Given the description of an element on the screen output the (x, y) to click on. 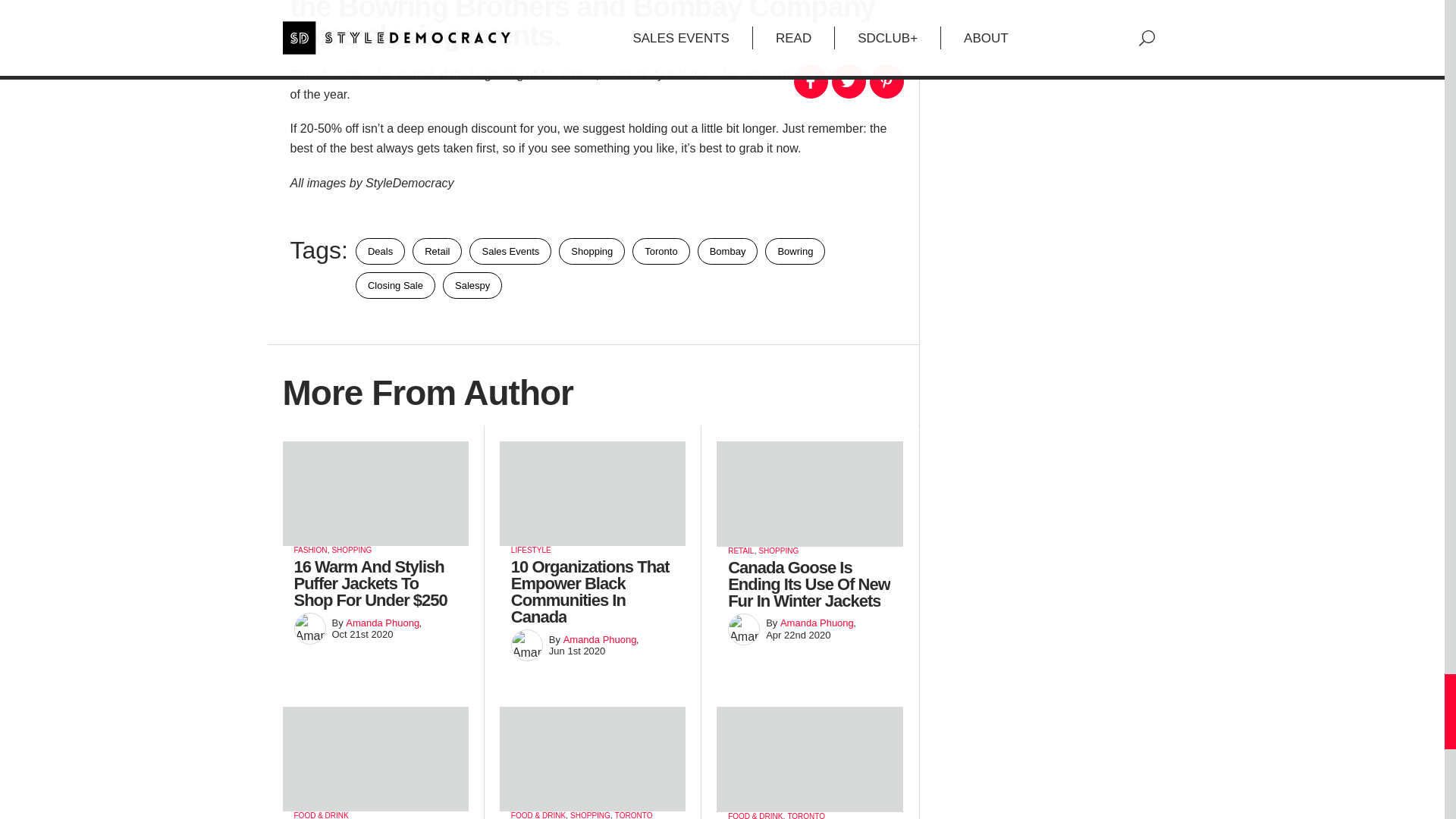
VIEW SHOPPING CATEGORY (351, 550)
By Amanda Phuong (527, 644)
Toronto (659, 251)
By Amanda Phuong (310, 628)
VIEW LIFESTYLE CATEGORY (531, 550)
Bowring (795, 251)
Bombay (727, 251)
Deals (379, 251)
Closing Sale (395, 284)
View this article. (374, 558)
Sales Events (509, 251)
View Author Posts (382, 623)
Retail (436, 251)
VIEW FASHION CATEGORY (310, 550)
Shopping (591, 251)
